Given the description of an element on the screen output the (x, y) to click on. 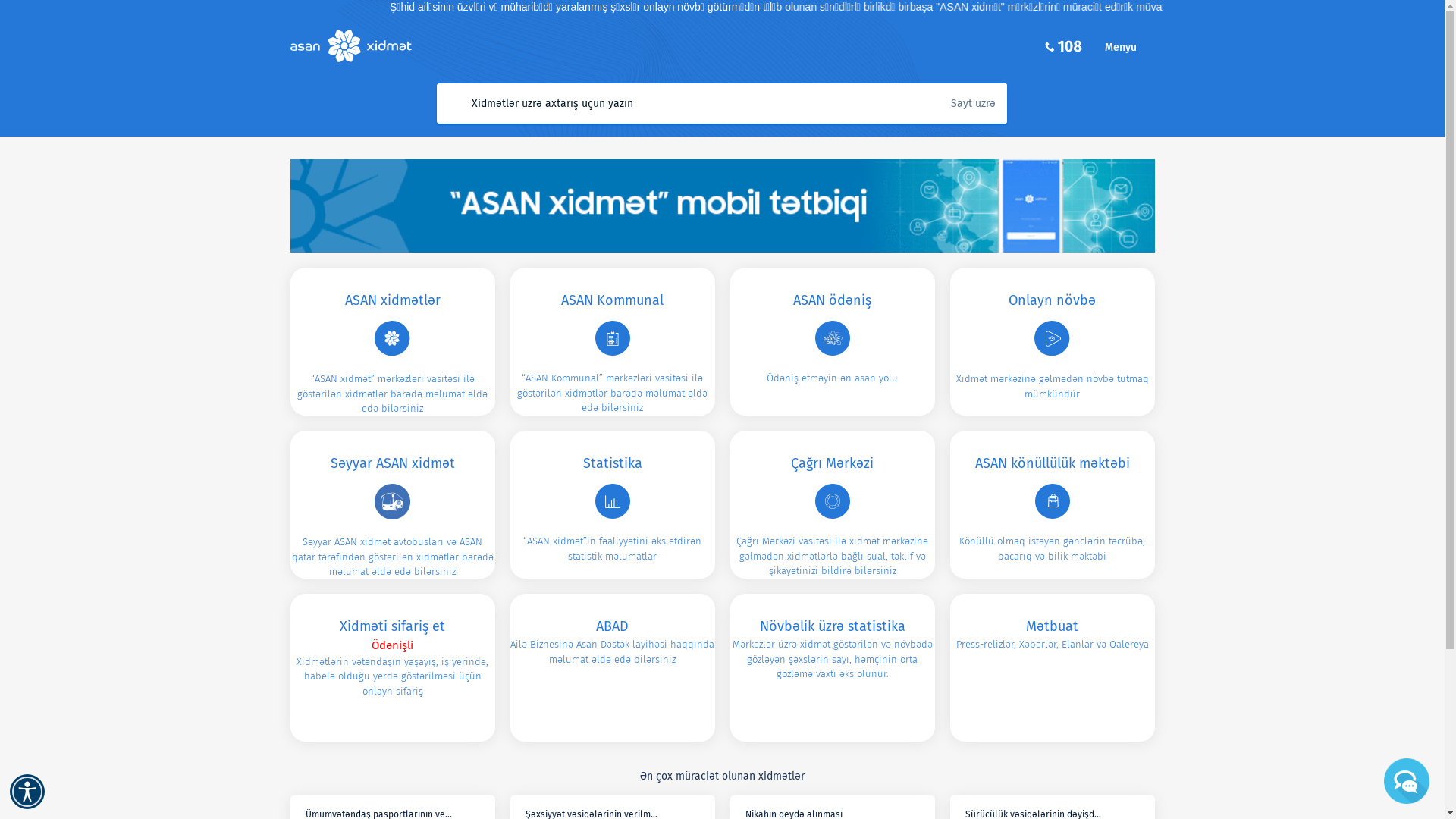
Menyu Element type: text (1129, 46)
